Given the description of an element on the screen output the (x, y) to click on. 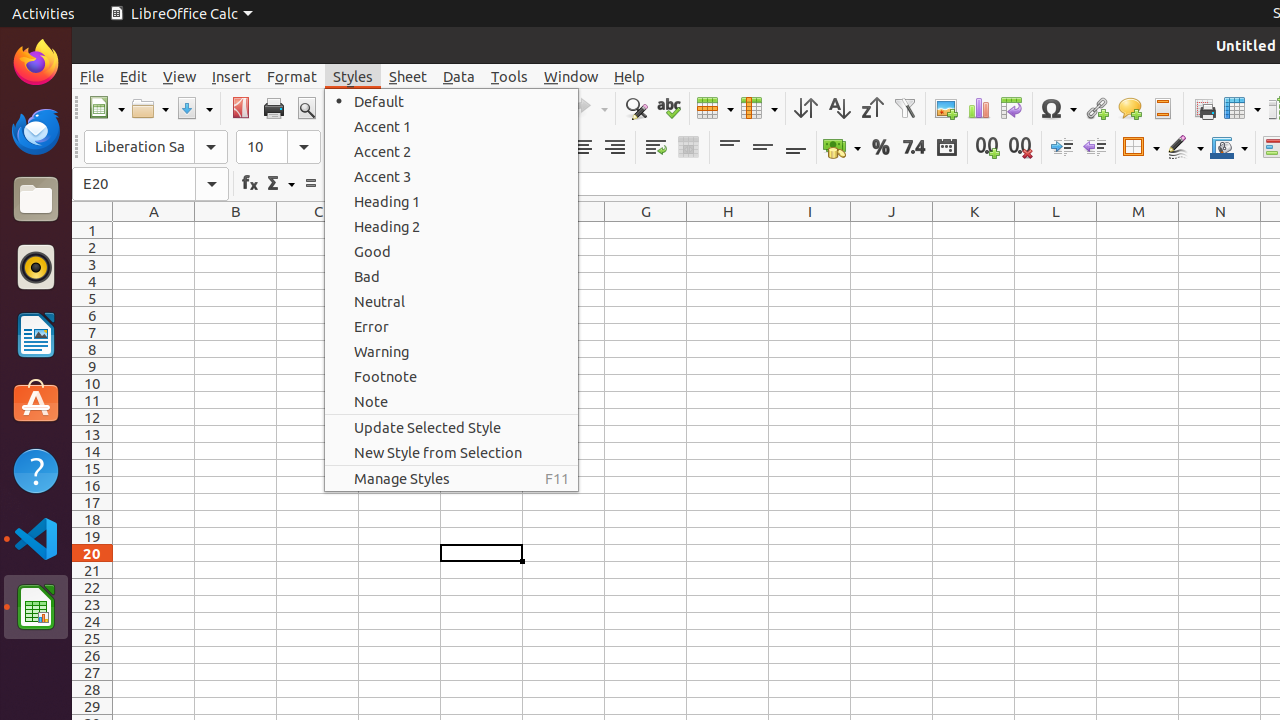
Print Area Element type: push-button (1203, 108)
Data Element type: menu (459, 76)
Border Style Element type: push-button (1185, 147)
Find & Replace Element type: toggle-button (635, 108)
Sheet Element type: menu (408, 76)
